Given the description of an element on the screen output the (x, y) to click on. 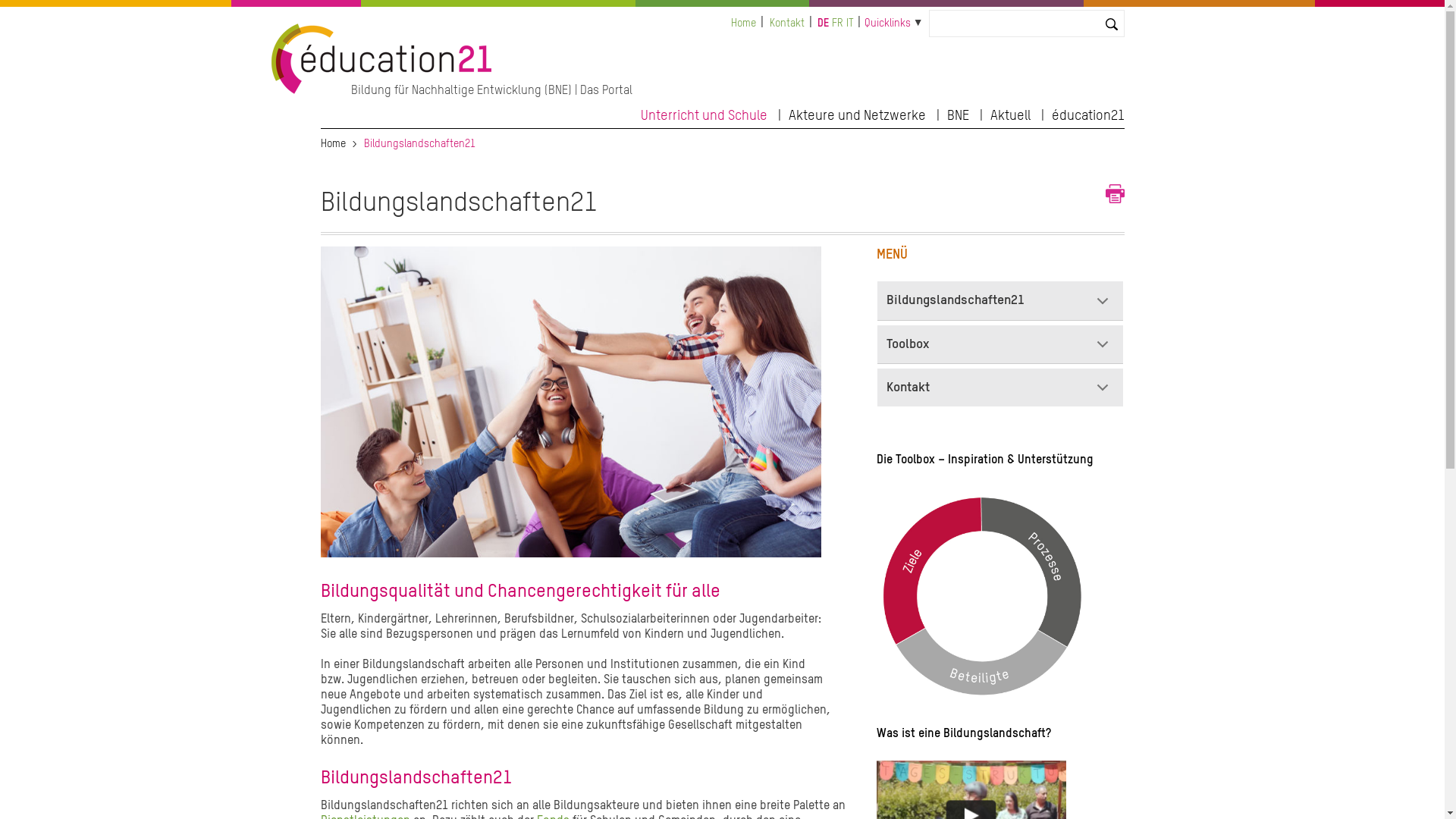
IT Element type: text (849, 23)
Home Element type: hover (381, 90)
Toolbox Element type: text (1000, 344)
Home Element type: text (332, 143)
Unterricht und Schule Element type: text (703, 113)
Quicklinks Element type: text (887, 22)
Kontakt Element type: text (1000, 387)
DE Element type: text (822, 23)
Suchen Element type: text (26, 13)
BNE Element type: text (957, 113)
Aktuell Element type: text (1010, 113)
Bildungslandschaften21 Element type: text (1000, 300)
Akteure und Netzwerke Element type: text (856, 113)
Kontakt Element type: text (786, 23)
Home Element type: text (743, 23)
FR Element type: text (837, 23)
